Given the description of an element on the screen output the (x, y) to click on. 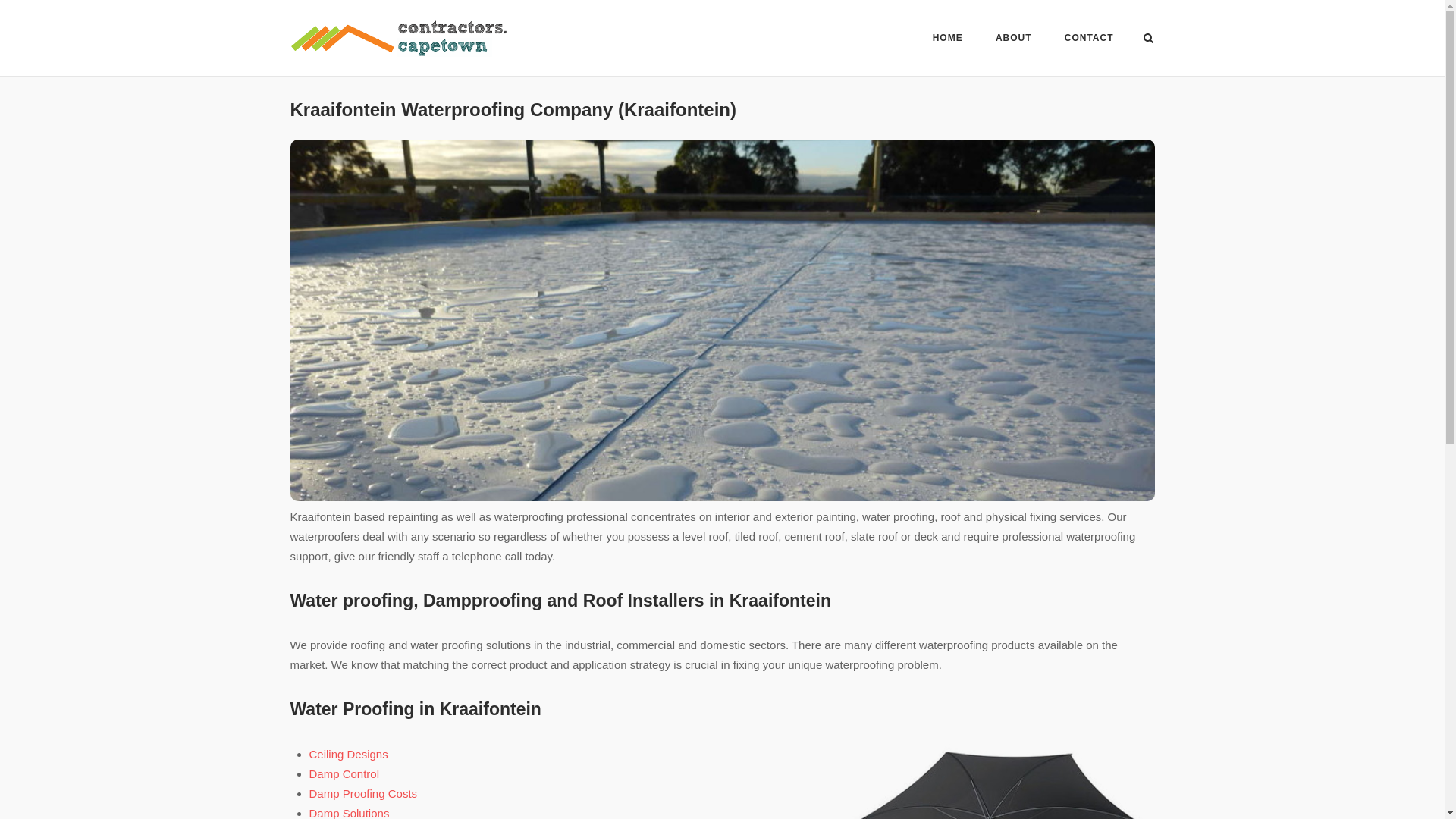
Ceiling Designs (348, 753)
Damp Proofing Costs (362, 793)
ABOUT (1013, 40)
HOME (947, 40)
Ceiling Designs (348, 753)
Damp Solutions (349, 812)
Damp Control (344, 773)
CONTACT (1088, 40)
Damp Control (344, 773)
Damp Solutions (349, 812)
Damp Proofing Costs (362, 793)
